Given the description of an element on the screen output the (x, y) to click on. 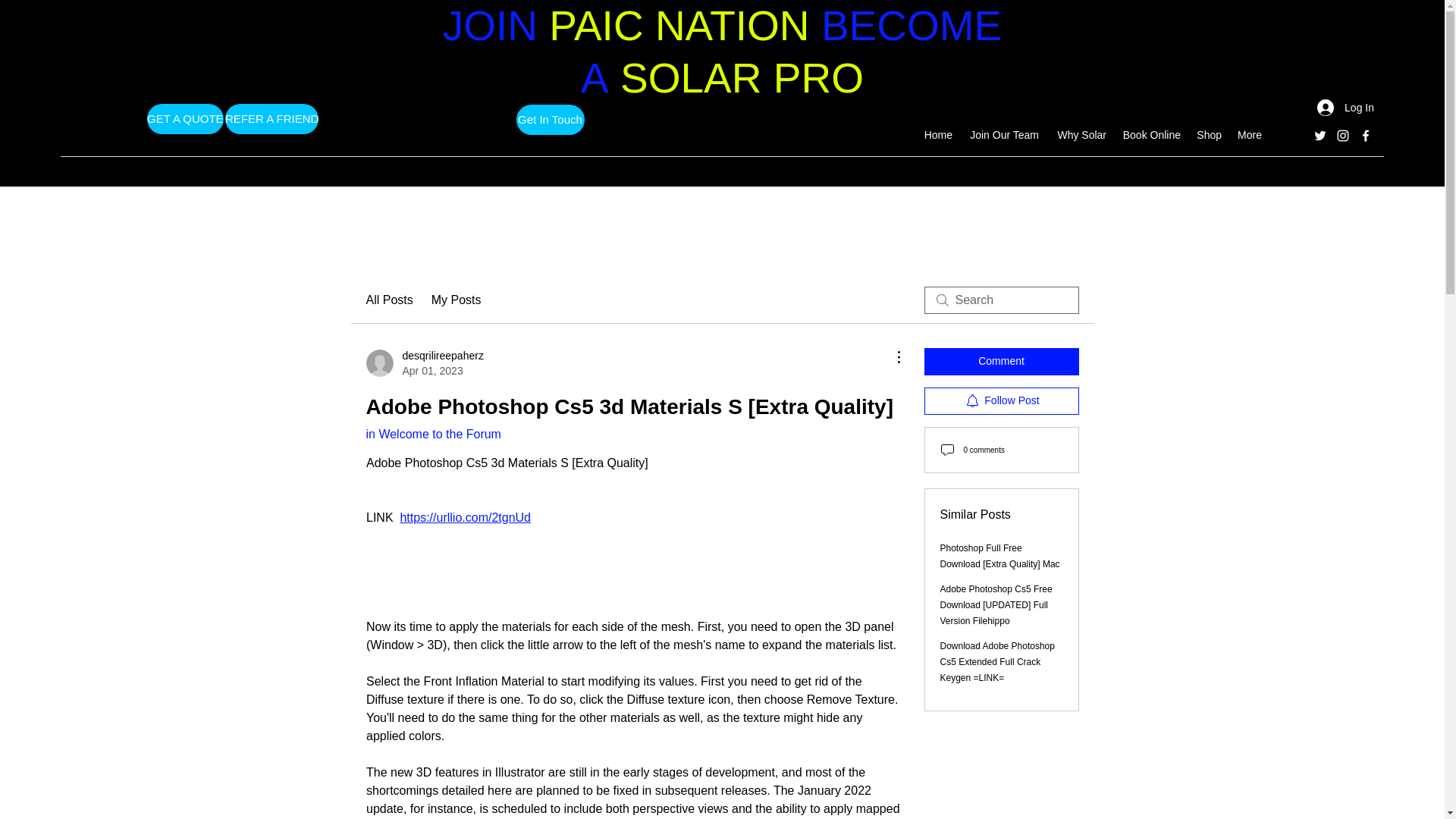
Get In Touch (549, 119)
Why Solar (424, 362)
Book Online (1079, 133)
My Posts (1150, 133)
Home (455, 300)
GET A QUOTE (937, 133)
Log In (185, 118)
Join Our Team (1345, 108)
in Welcome to the Forum (1002, 133)
